Given the description of an element on the screen output the (x, y) to click on. 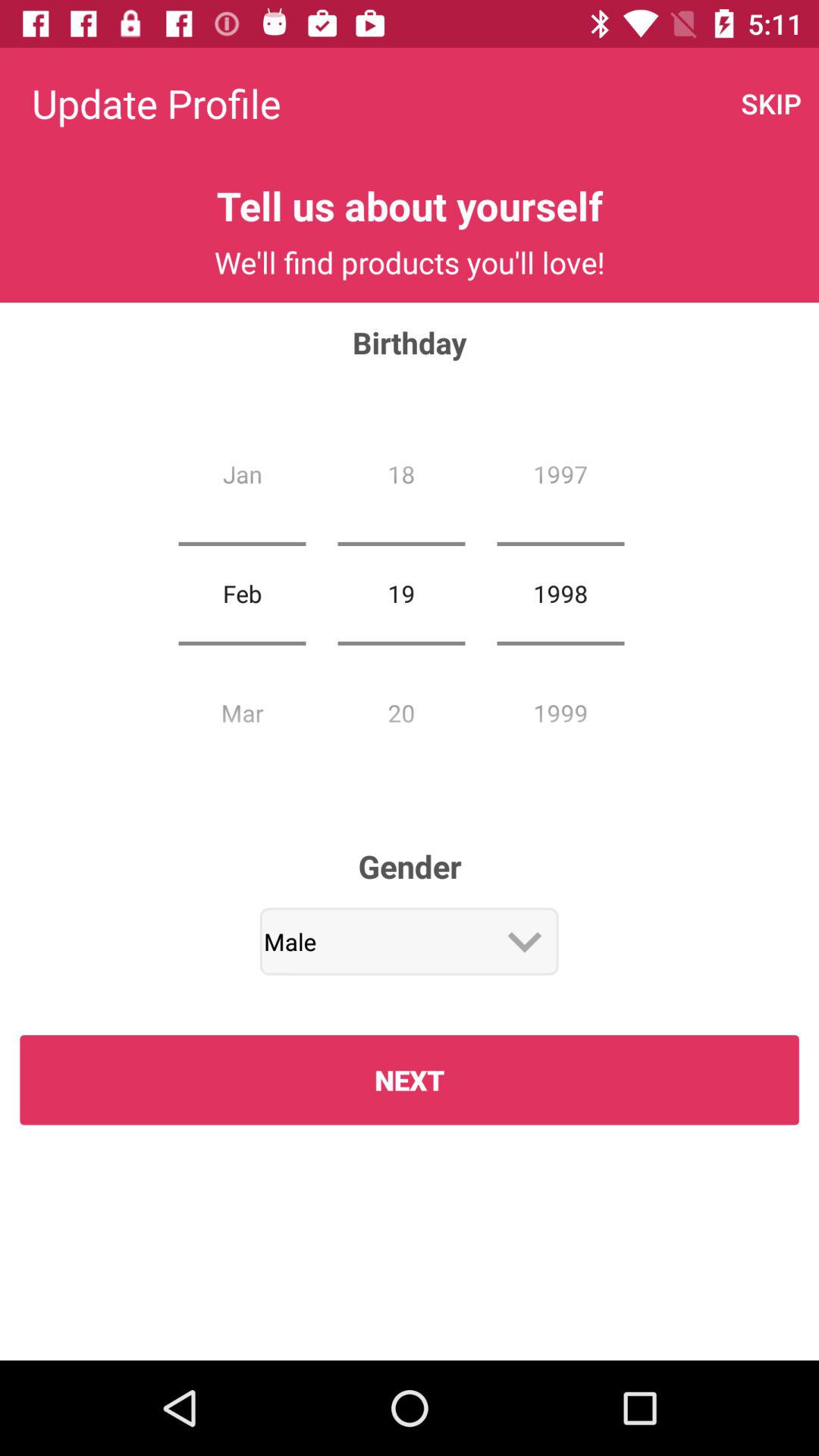
select the 19 (401, 593)
